Given the description of an element on the screen output the (x, y) to click on. 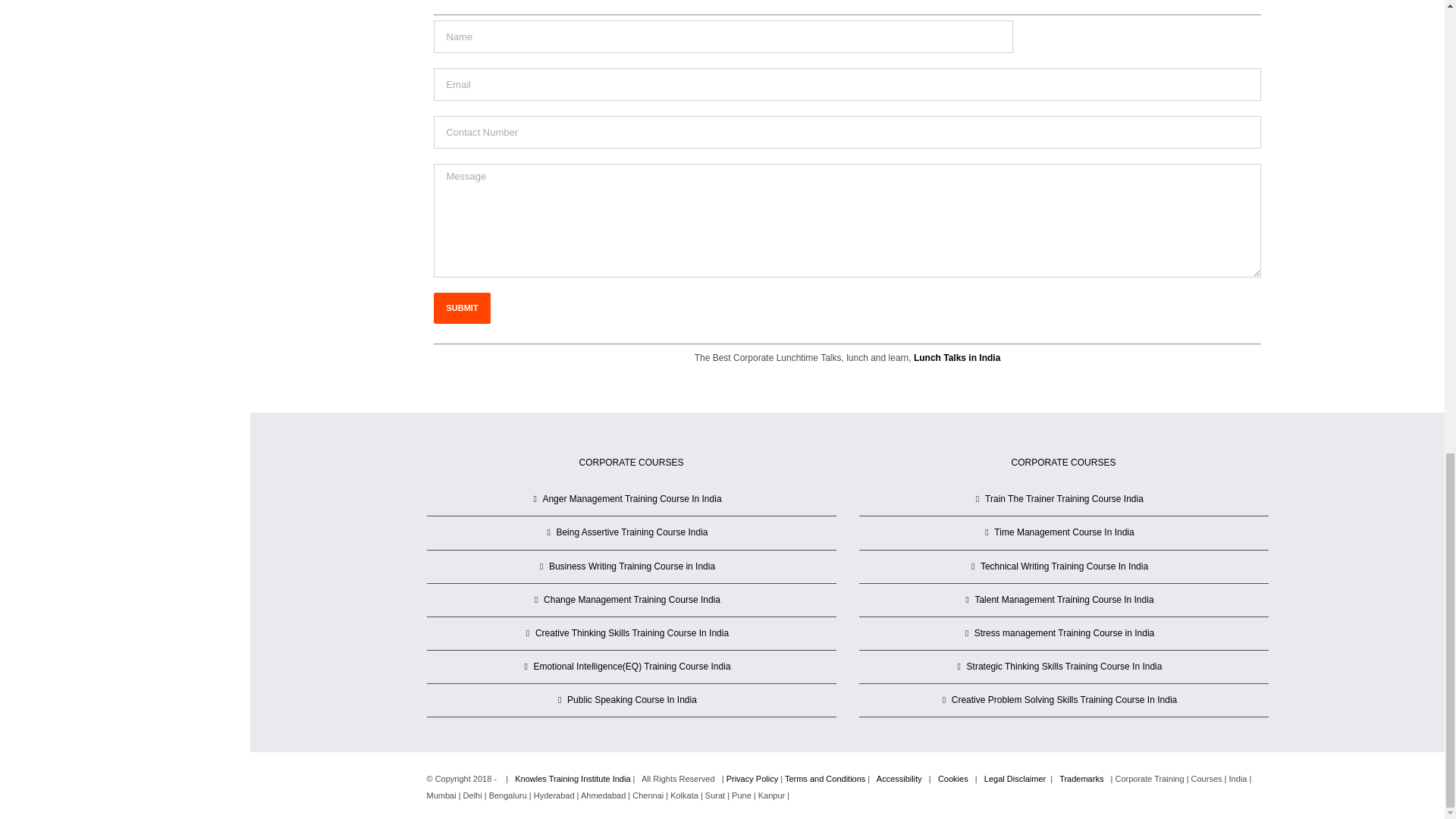
submit (461, 307)
Public Speaking Course In India (631, 700)
submit (461, 307)
Train The Trainer Training Course India (1063, 498)
Technical Writing Training Course In India (1063, 566)
Talent Management Training Course In India (1063, 600)
Business Writing Training Course in India (631, 566)
Lunch Talks in India (957, 357)
Creative Thinking Skills Training Course In India (631, 633)
Time Management Course In India (1063, 532)
Being Assertive Training Course India (631, 532)
Anger Management Training Course In India (631, 498)
Change Management Training Course India (631, 600)
